Given the description of an element on the screen output the (x, y) to click on. 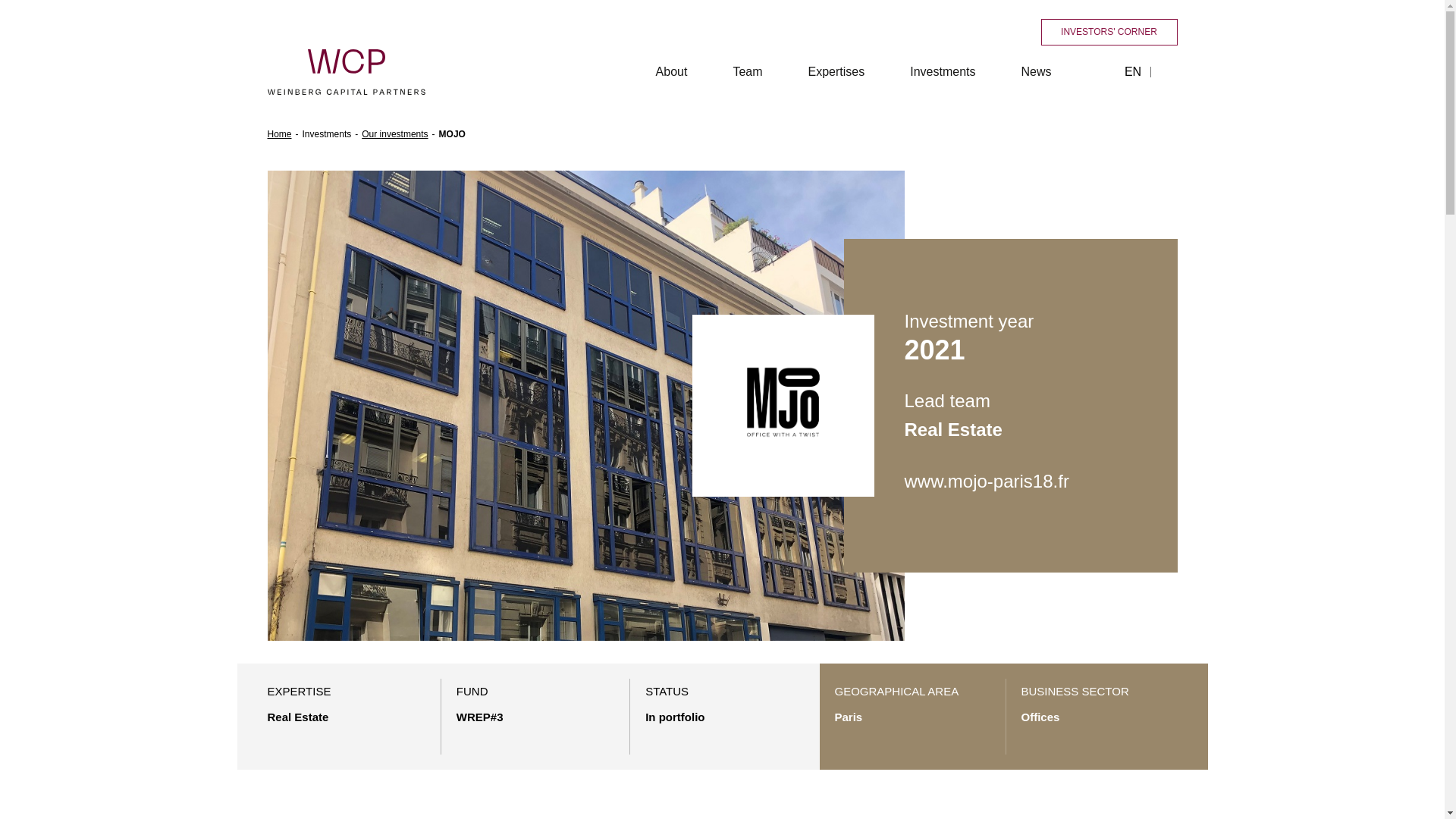
News (1035, 71)
MOJO (452, 134)
Our investments (394, 134)
INVESTORS' CORNER (1108, 31)
About (671, 71)
Expertises (837, 71)
Investments (941, 71)
Team (747, 71)
Home (278, 134)
